Given the description of an element on the screen output the (x, y) to click on. 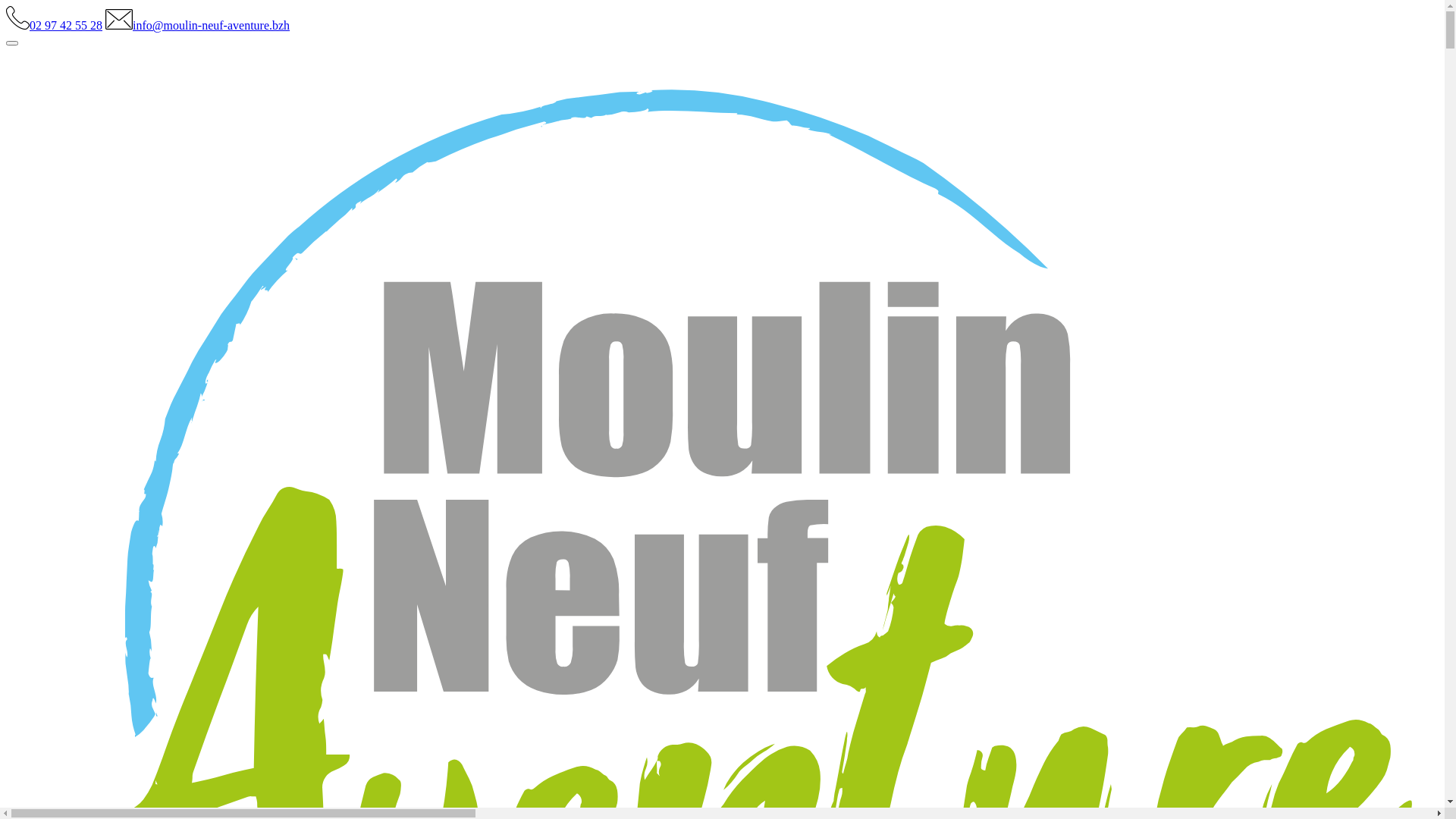
info@moulin-neuf-aventure.bzh Element type: text (197, 24)
02 97 42 55 28 Element type: text (54, 24)
